Given the description of an element on the screen output the (x, y) to click on. 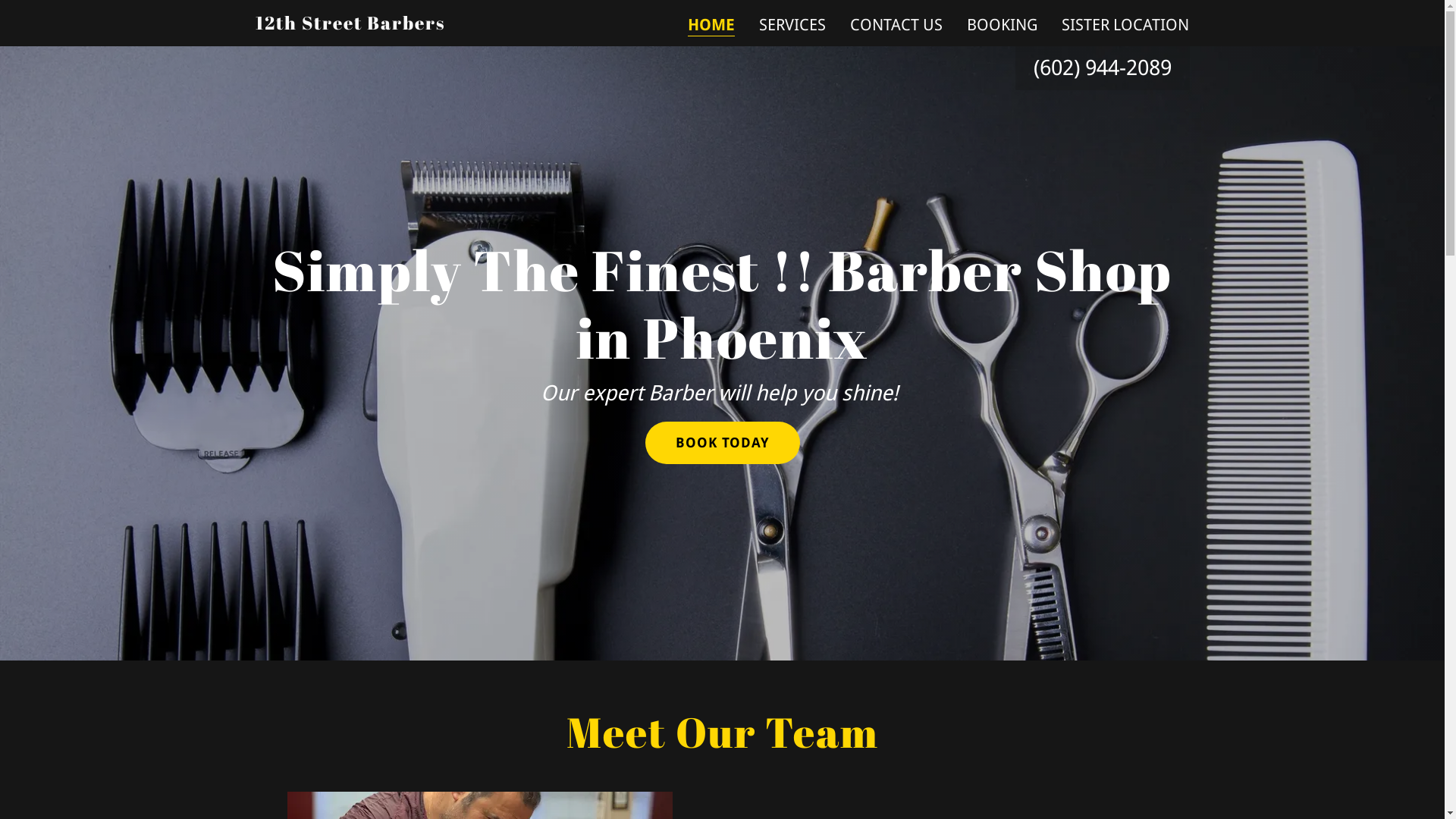
12th Street Barbers Element type: text (349, 23)
BOOKING Element type: text (1001, 24)
BOOK TODAY Element type: text (721, 442)
(602) 944-2089 Element type: text (1101, 67)
HOME Element type: text (710, 25)
SERVICES Element type: text (792, 24)
SISTER LOCATION Element type: text (1125, 24)
CONTACT US Element type: text (896, 24)
